Given the description of an element on the screen output the (x, y) to click on. 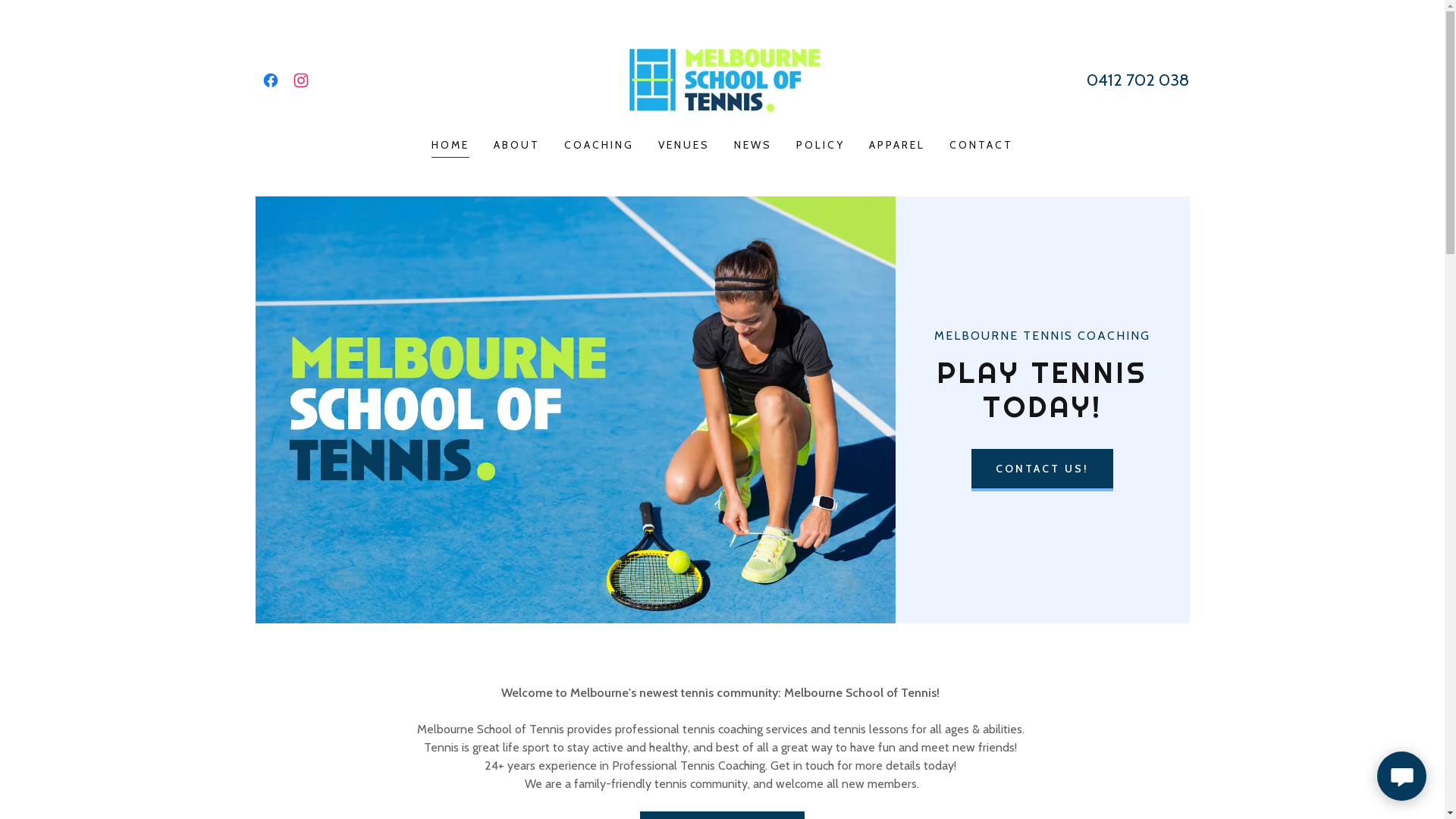
ABOUT Element type: text (516, 144)
APPAREL Element type: text (896, 144)
CONTACT Element type: text (980, 144)
COACHING Element type: text (598, 144)
CONTACT US! Element type: text (1042, 469)
0412 702 038 Element type: text (1137, 79)
VENUES Element type: text (684, 144)
HOME Element type: text (450, 146)
POLICY Element type: text (820, 144)
NEWS Element type: text (752, 144)
